Given the description of an element on the screen output the (x, y) to click on. 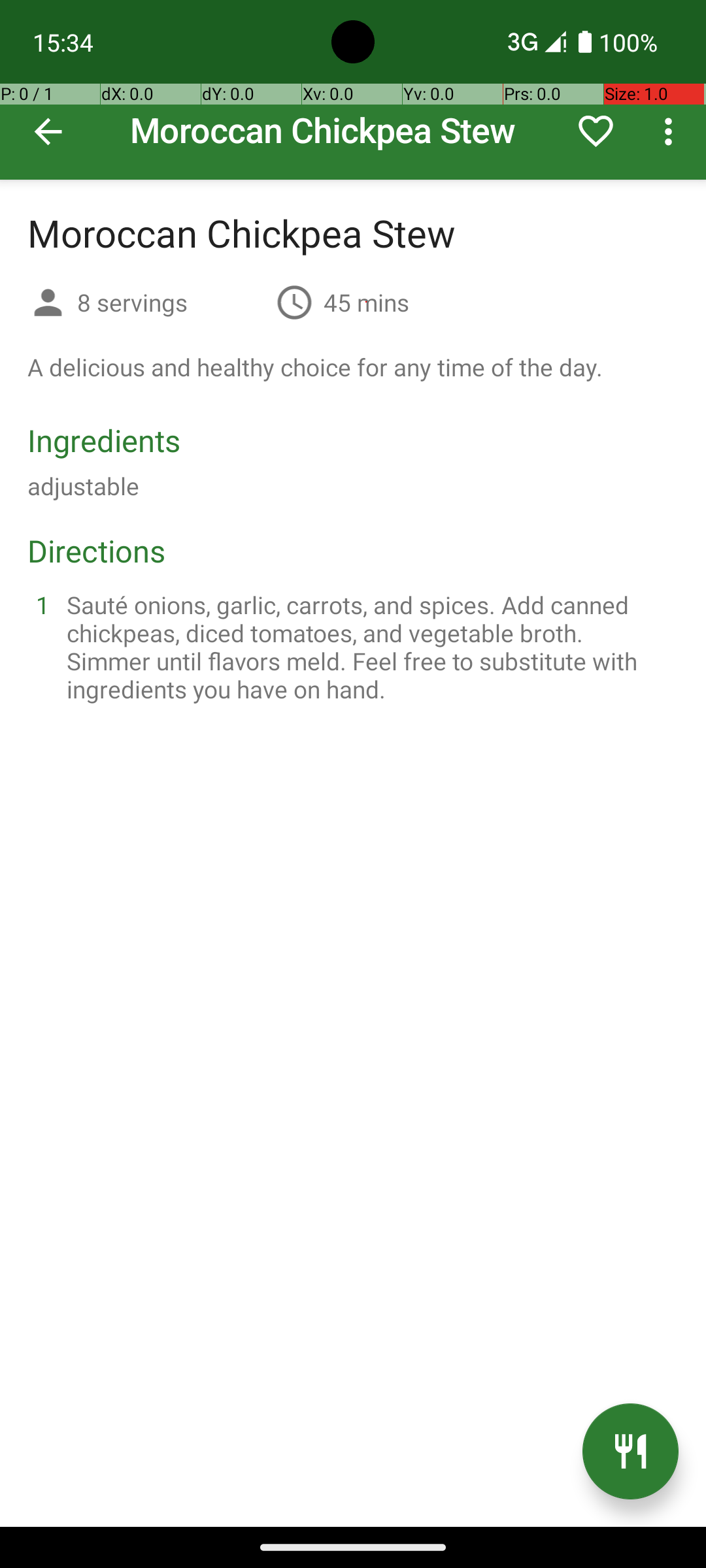
Moroccan Chickpea Stew Element type: android.widget.FrameLayout (353, 89)
Cook Element type: android.widget.ImageButton (630, 1451)
Mark as favorite Element type: android.widget.Button (595, 131)
Servings Element type: android.widget.ImageView (47, 303)
8 servings Element type: android.widget.TextView (170, 301)
45 mins Element type: android.widget.TextView (366, 301)
A delicious and healthy choice for any time of the day. Element type: android.widget.TextView (314, 366)
adjustable Element type: android.widget.TextView (83, 485)
Directions Element type: android.widget.TextView (96, 550)
Sauté onions, garlic, carrots, and spices. Add canned chickpeas, diced tomatoes, and vegetable broth. Simmer until flavors meld. Feel free to substitute with ingredients you have on hand. Element type: android.widget.TextView (368, 646)
